Given the description of an element on the screen output the (x, y) to click on. 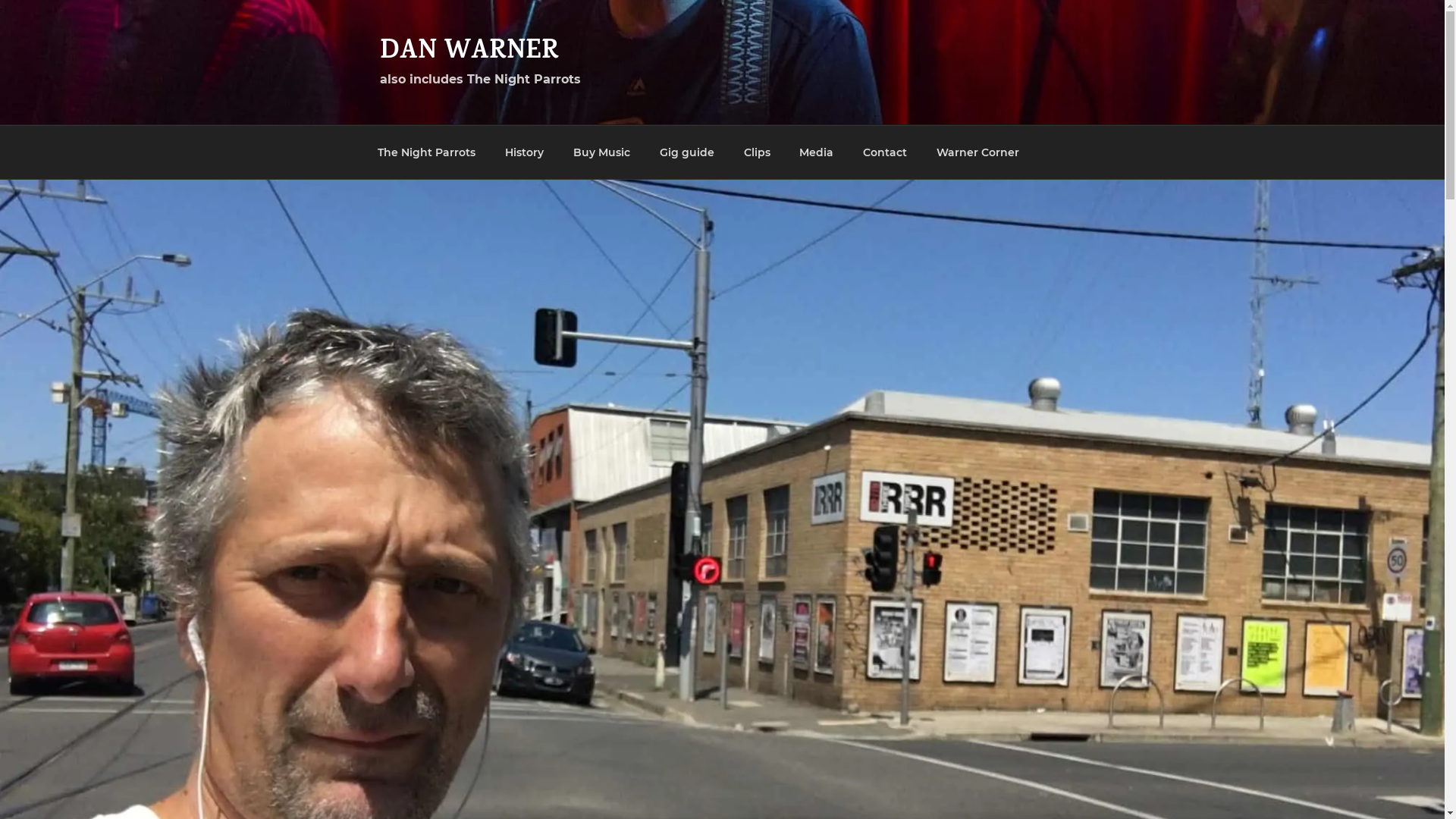
DAN WARNER Element type: text (468, 53)
Contact Element type: text (885, 151)
Warner Corner Element type: text (977, 151)
The Night Parrots Element type: text (426, 151)
Buy Music Element type: text (601, 151)
Clips Element type: text (756, 151)
Media Element type: text (816, 151)
History Element type: text (523, 151)
Gig guide Element type: text (686, 151)
